Given the description of an element on the screen output the (x, y) to click on. 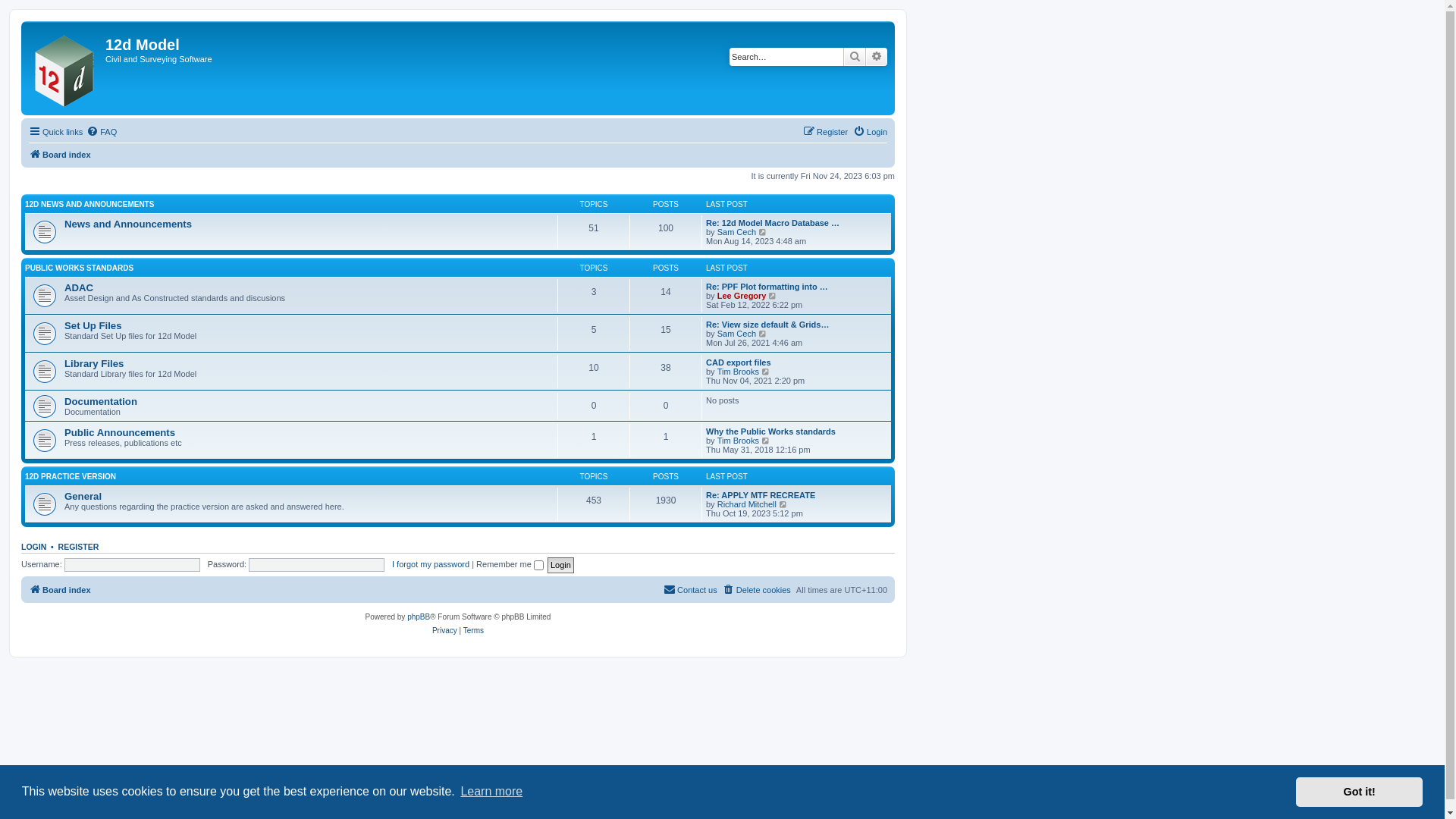
Terms Element type: text (473, 630)
View the latest post Element type: text (783, 503)
View the latest post Element type: text (766, 371)
ADAC Element type: text (78, 287)
News and Announcements Element type: text (127, 223)
I forgot my password Element type: text (430, 563)
CAD export files Element type: text (738, 362)
Got it! Element type: text (1358, 791)
Public Announcements Element type: text (119, 432)
Username Element type: hover (132, 564)
12D NEWS AND ANNOUNCEMENTS Element type: text (89, 204)
Login Element type: text (870, 131)
Board index Element type: text (59, 589)
REGISTER Element type: text (78, 546)
Learn more Element type: text (491, 791)
General Element type: text (82, 496)
Register Element type: text (825, 131)
Library Files Element type: text (93, 363)
Delete cookies Element type: text (756, 589)
Password Element type: hover (316, 564)
View the latest post Element type: text (763, 333)
Sam Cech Element type: text (736, 231)
Board index Element type: text (59, 154)
View the latest post Element type: text (763, 231)
View the latest post Element type: text (766, 440)
Tim Brooks Element type: text (738, 371)
Lee Gregory Element type: text (741, 295)
phpBB Element type: text (418, 617)
Search for keywords Element type: hover (786, 56)
Quick links Element type: text (55, 131)
Contact us Element type: text (690, 589)
PUBLIC WORKS STANDARDS Element type: text (79, 267)
Login Element type: text (560, 565)
LOGIN Element type: text (33, 546)
Documentation Element type: text (100, 401)
Re: APPLY MTF RECREATE Element type: text (760, 494)
FAQ Element type: text (101, 131)
Advanced search Element type: text (876, 56)
Richard Mitchell Element type: text (746, 503)
Search Element type: text (854, 56)
Privacy Element type: text (444, 630)
12D PRACTICE VERSION Element type: text (70, 476)
View the latest post Element type: text (773, 295)
Set Up Files Element type: text (92, 325)
Tim Brooks Element type: text (738, 440)
Sam Cech Element type: text (736, 333)
Why the Public Works standards Element type: text (770, 431)
Board index Element type: hover (65, 68)
